Given the description of an element on the screen output the (x, y) to click on. 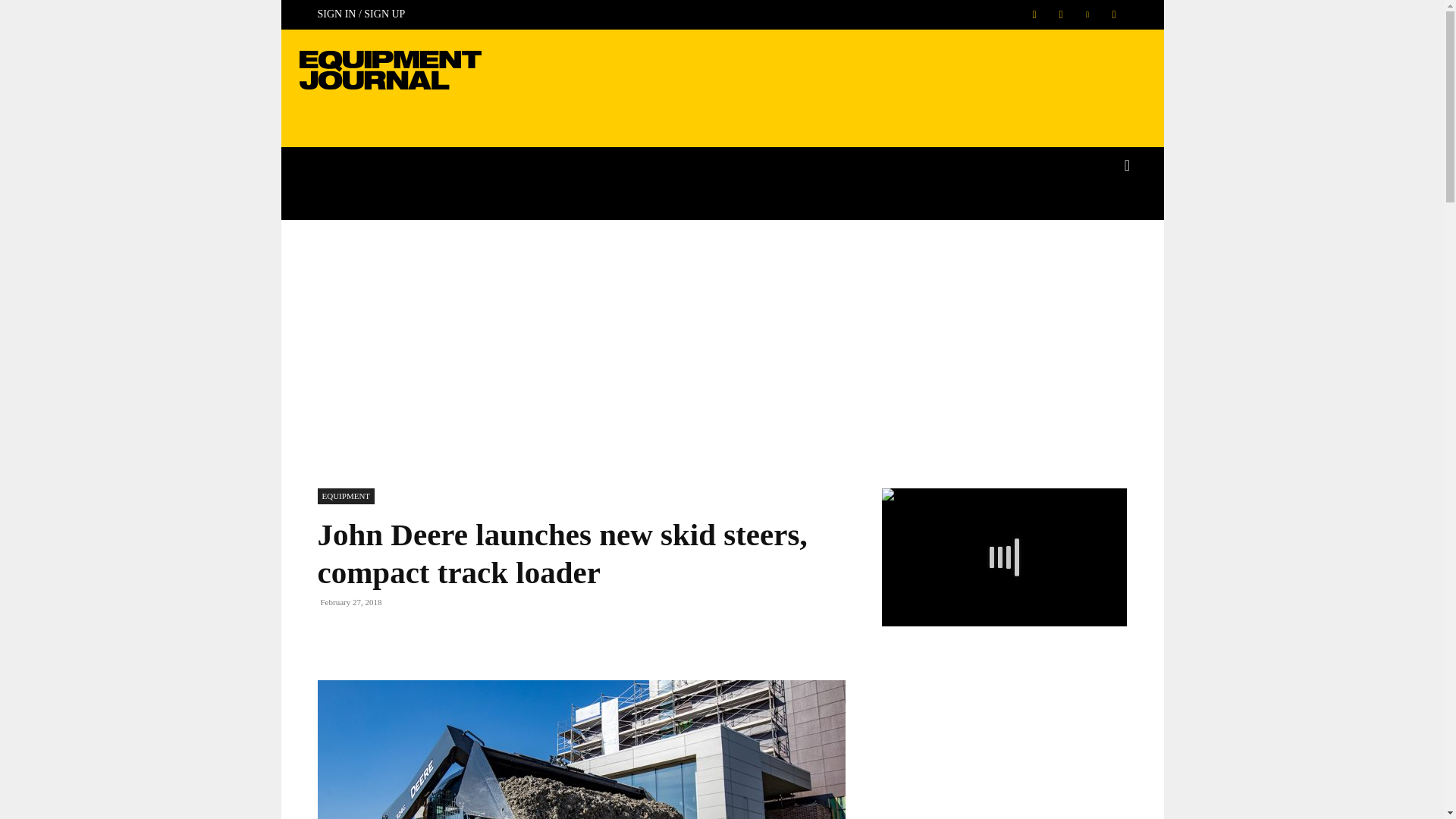
Facebook (1033, 14)
Linkedin (1087, 14)
Instagram (1061, 14)
EQUIPMENT (345, 496)
Twitter (1113, 14)
